Given the description of an element on the screen output the (x, y) to click on. 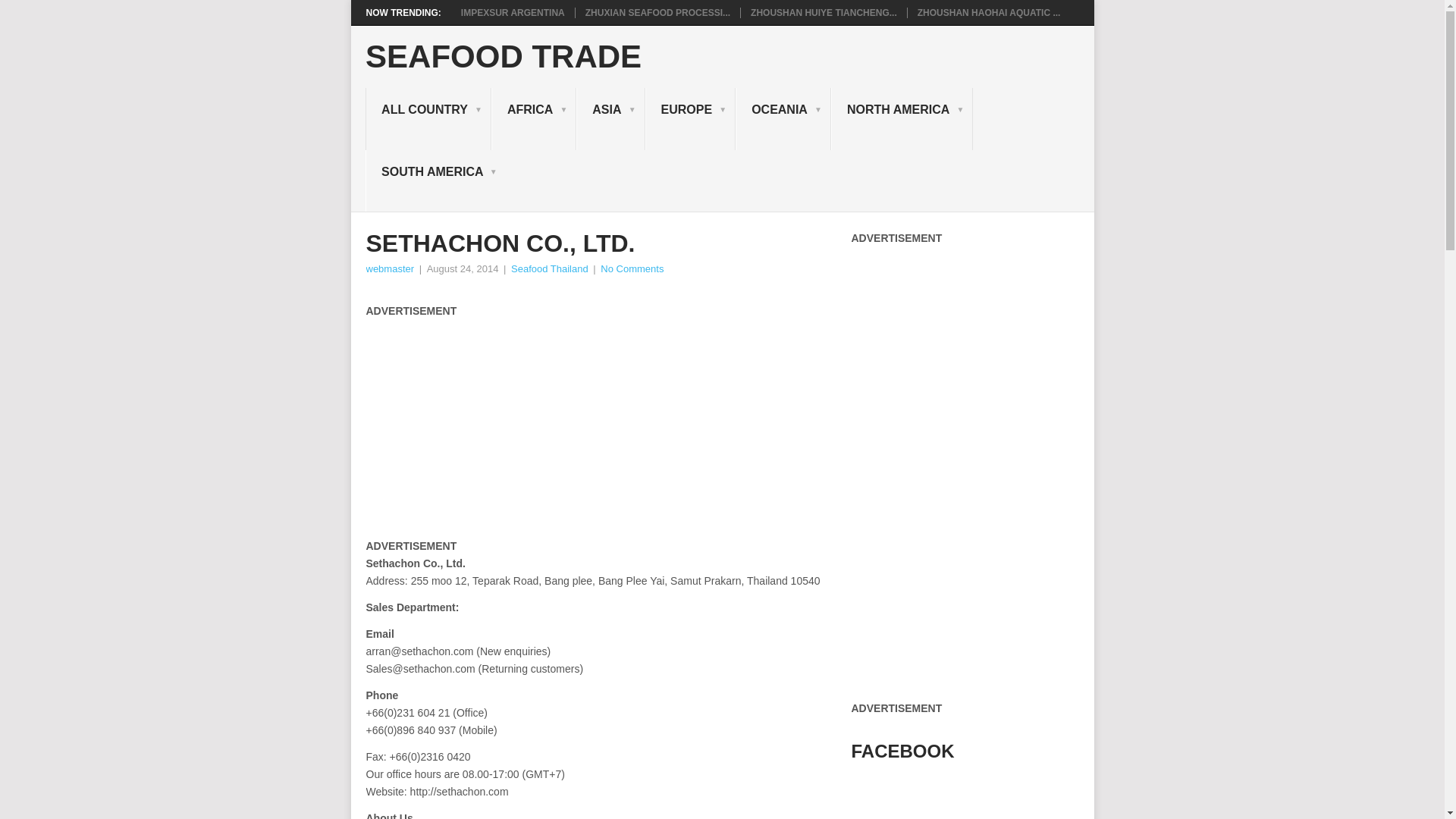
Asia Seafood (610, 118)
ASIA (610, 118)
EUROPE (690, 118)
ALL COUNTRY (428, 118)
Zhoushan Huiye Tiancheng Aquatic Products Co., Ltd. (823, 12)
IMPEXSUR ARGENTINA (512, 12)
Africa Seafood (534, 118)
SEAFOOD TRADE (503, 56)
ZHOUSHAN HAOHAI AQUATIC ... (989, 12)
ImpexSur Argentina (512, 12)
